Given the description of an element on the screen output the (x, y) to click on. 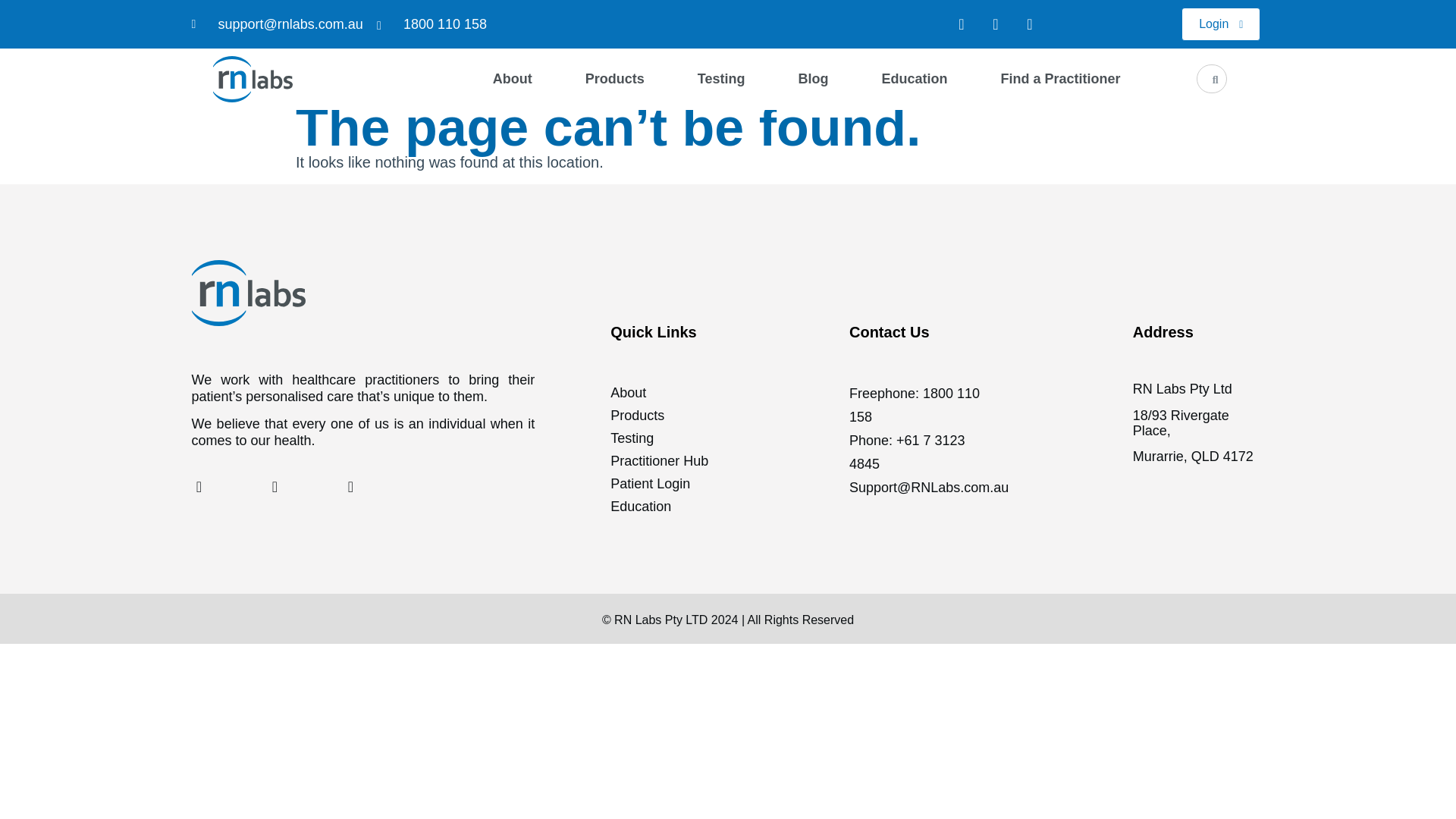
Testing (721, 78)
Login (1220, 23)
Education (913, 78)
About (512, 78)
Products (615, 78)
Find a Practitioner (1059, 78)
Blog (812, 78)
